Given the description of an element on the screen output the (x, y) to click on. 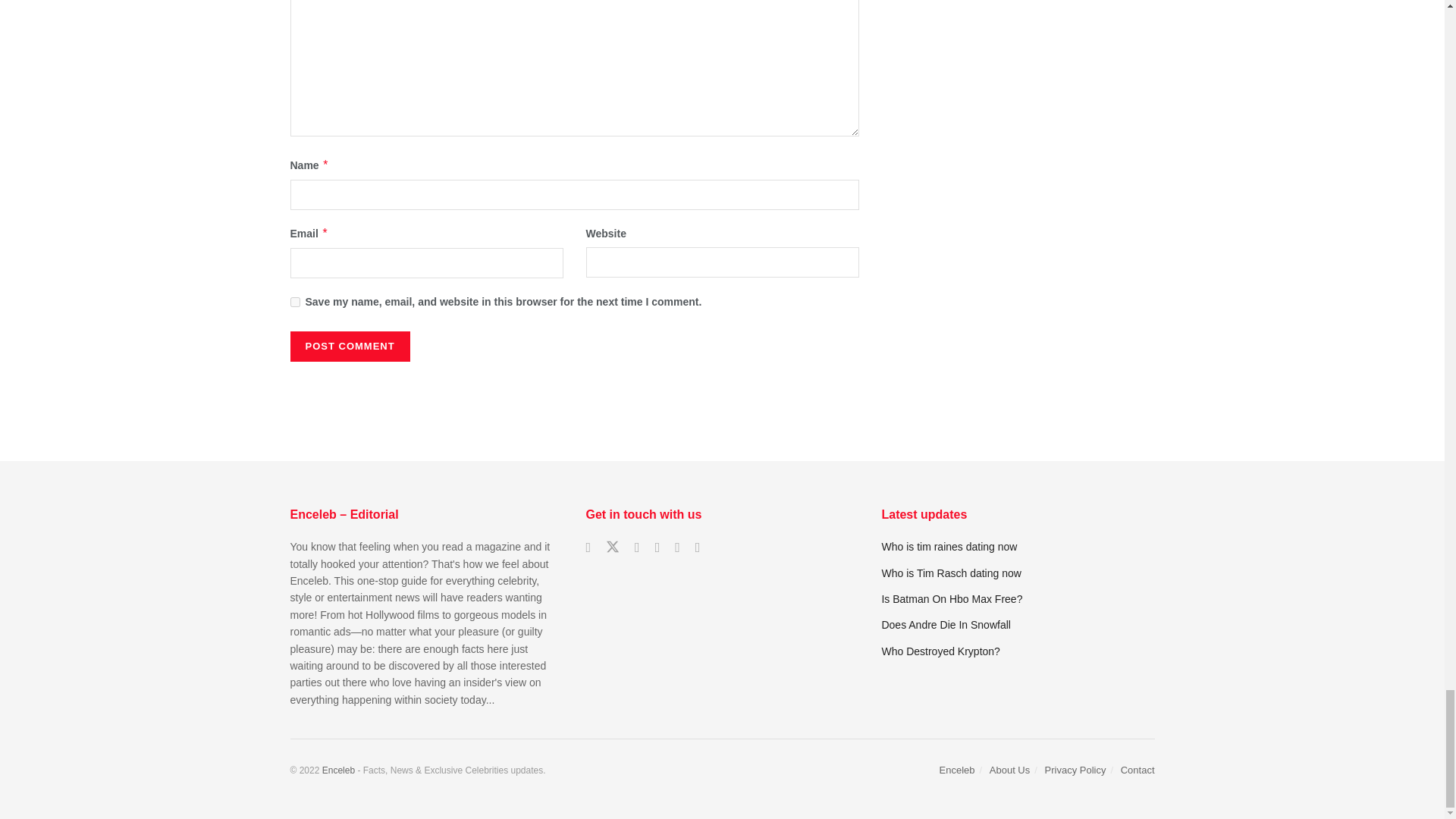
yes (294, 302)
Enceleb Magazine (338, 769)
Post Comment (349, 346)
